Given the description of an element on the screen output the (x, y) to click on. 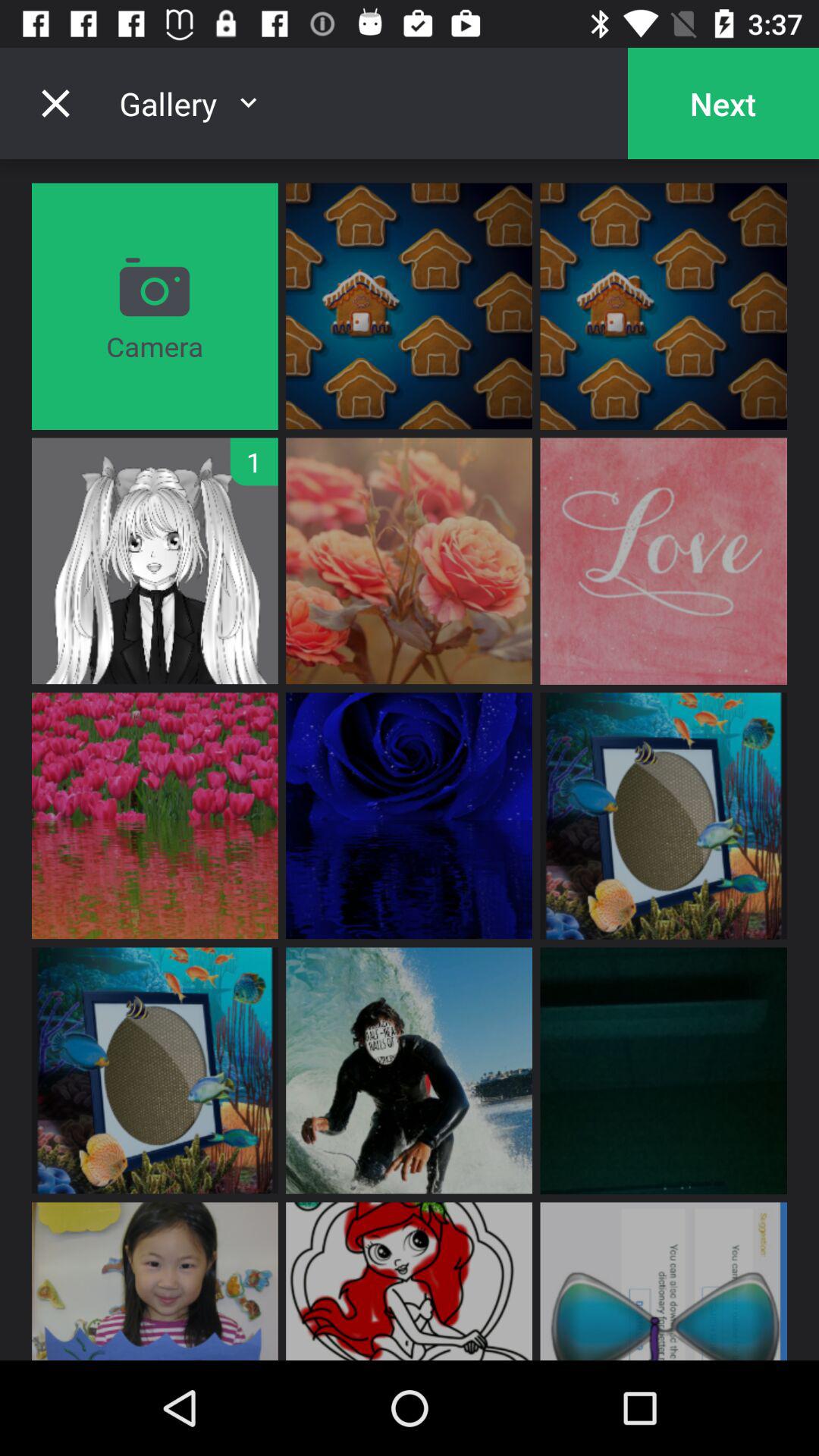
turn off item next to gallery item (55, 103)
